Given the description of an element on the screen output the (x, y) to click on. 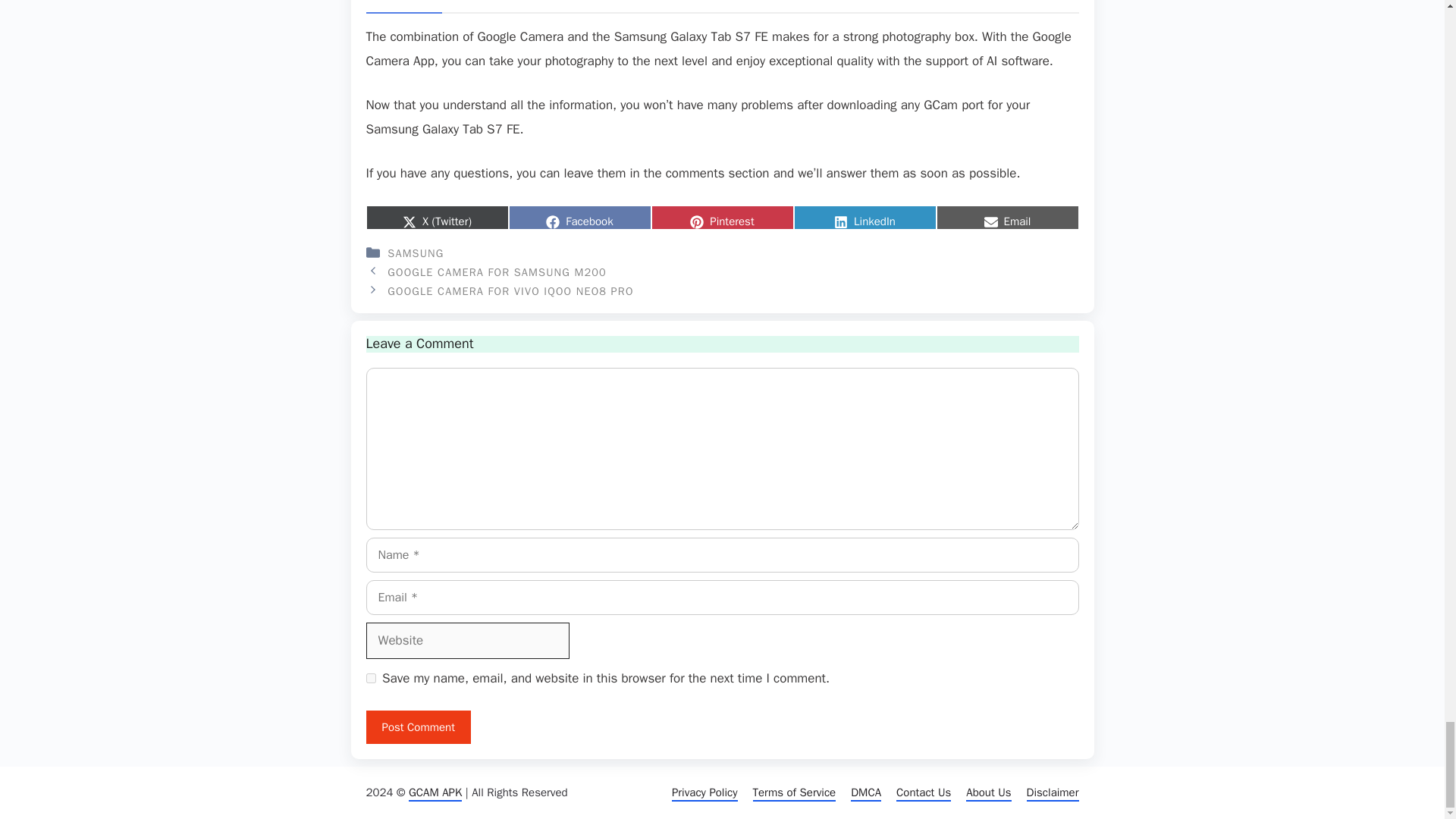
Post Comment (417, 727)
yes (370, 678)
